Given the description of an element on the screen output the (x, y) to click on. 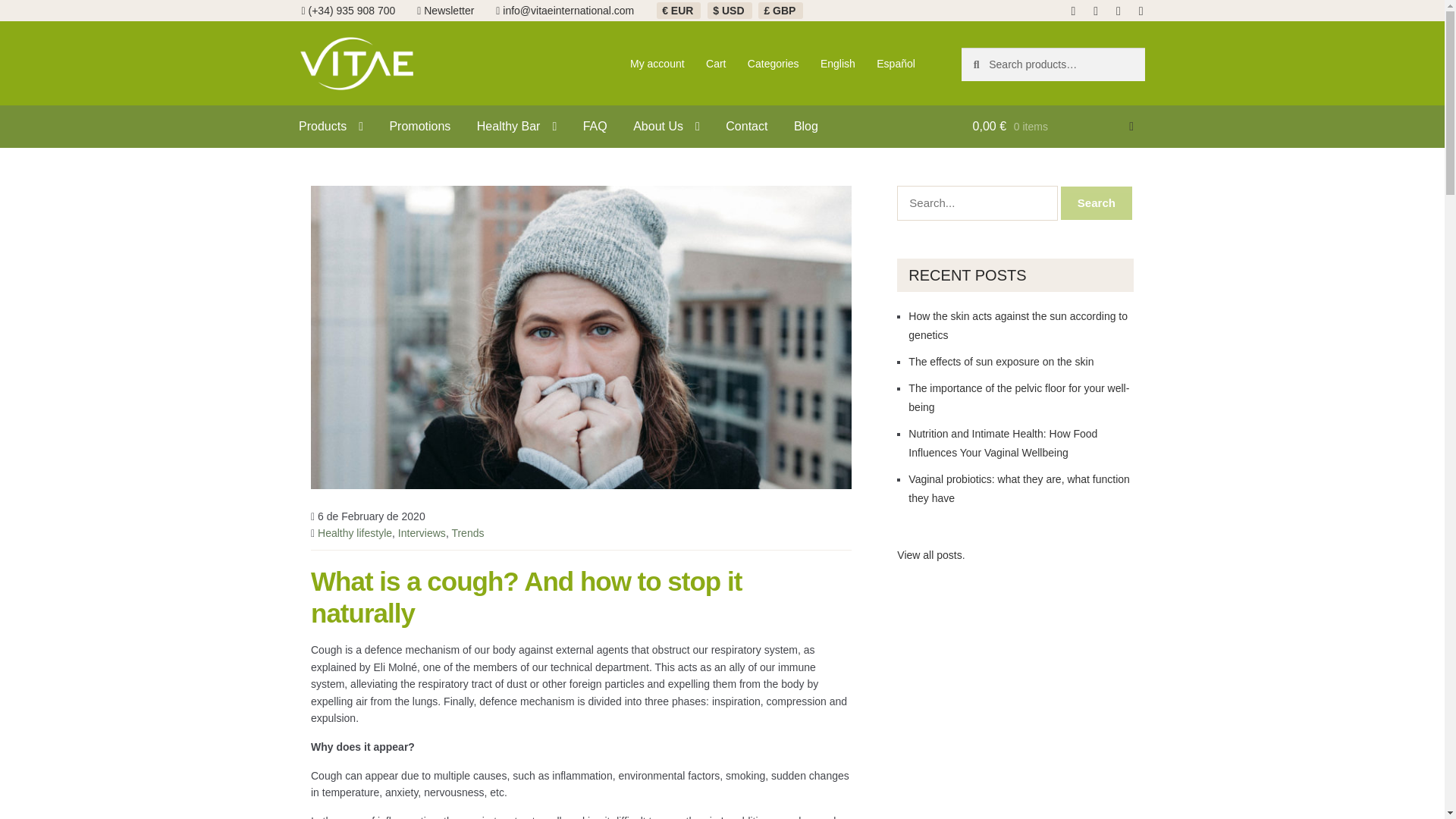
Healthy Bar (516, 126)
English (837, 63)
English (837, 63)
Products (330, 126)
Search (1096, 203)
View your shopping cart (1052, 126)
My account (657, 63)
Newsletter (448, 10)
Cart (716, 63)
